Given the description of an element on the screen output the (x, y) to click on. 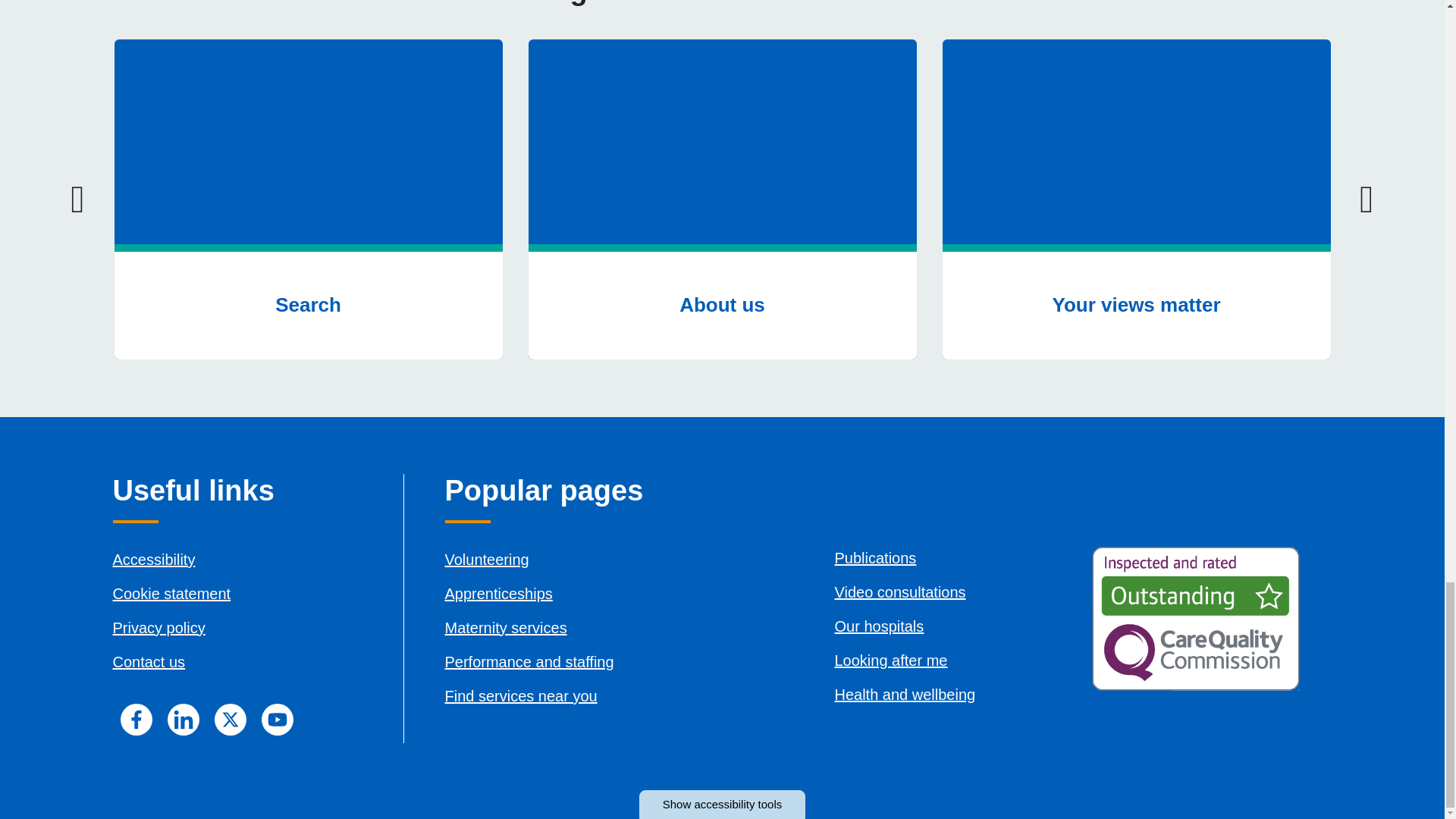
Youtube (276, 719)
LinkedIn (182, 719)
Facebook (135, 719)
X (230, 719)
CQC Rating (1196, 619)
